Given the description of an element on the screen output the (x, y) to click on. 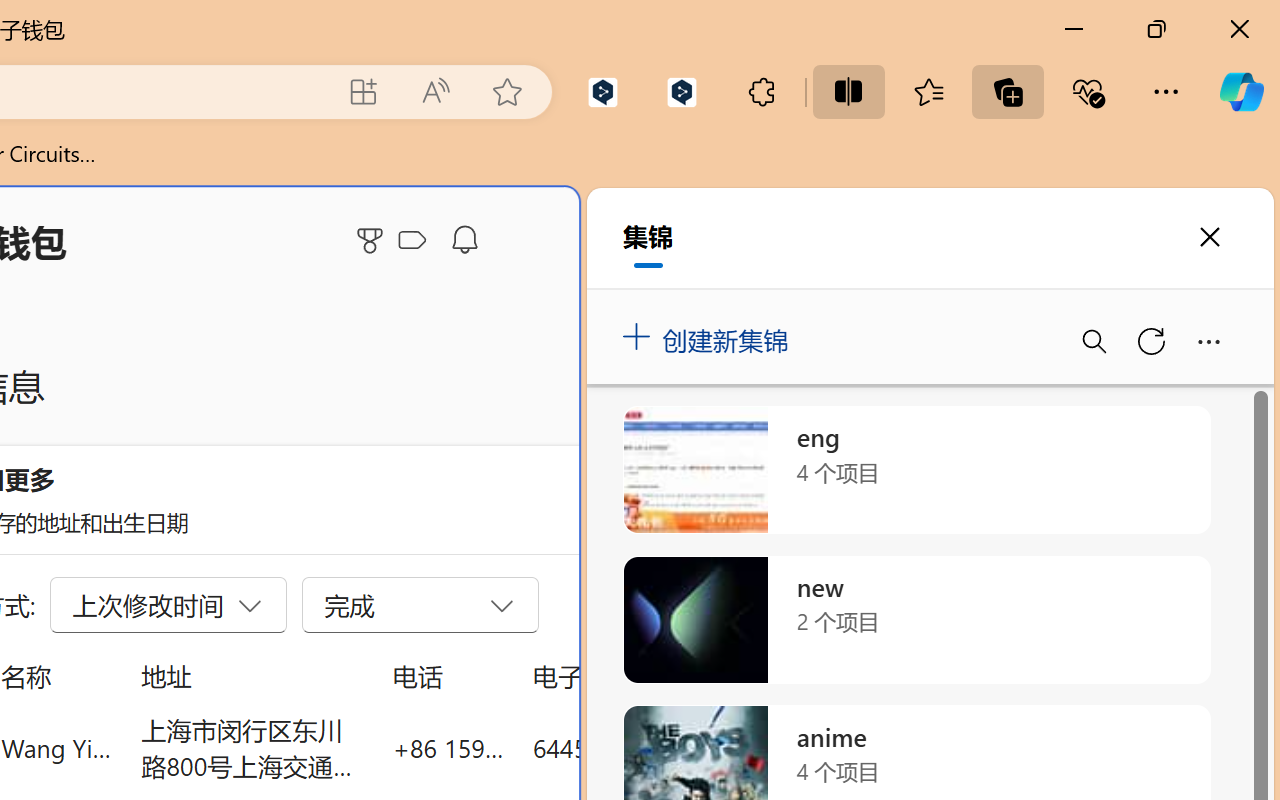
Class: ___1lmltc5 f1agt3bx f12qytpq (411, 241)
Microsoft Cashback (415, 241)
